Given the description of an element on the screen output the (x, y) to click on. 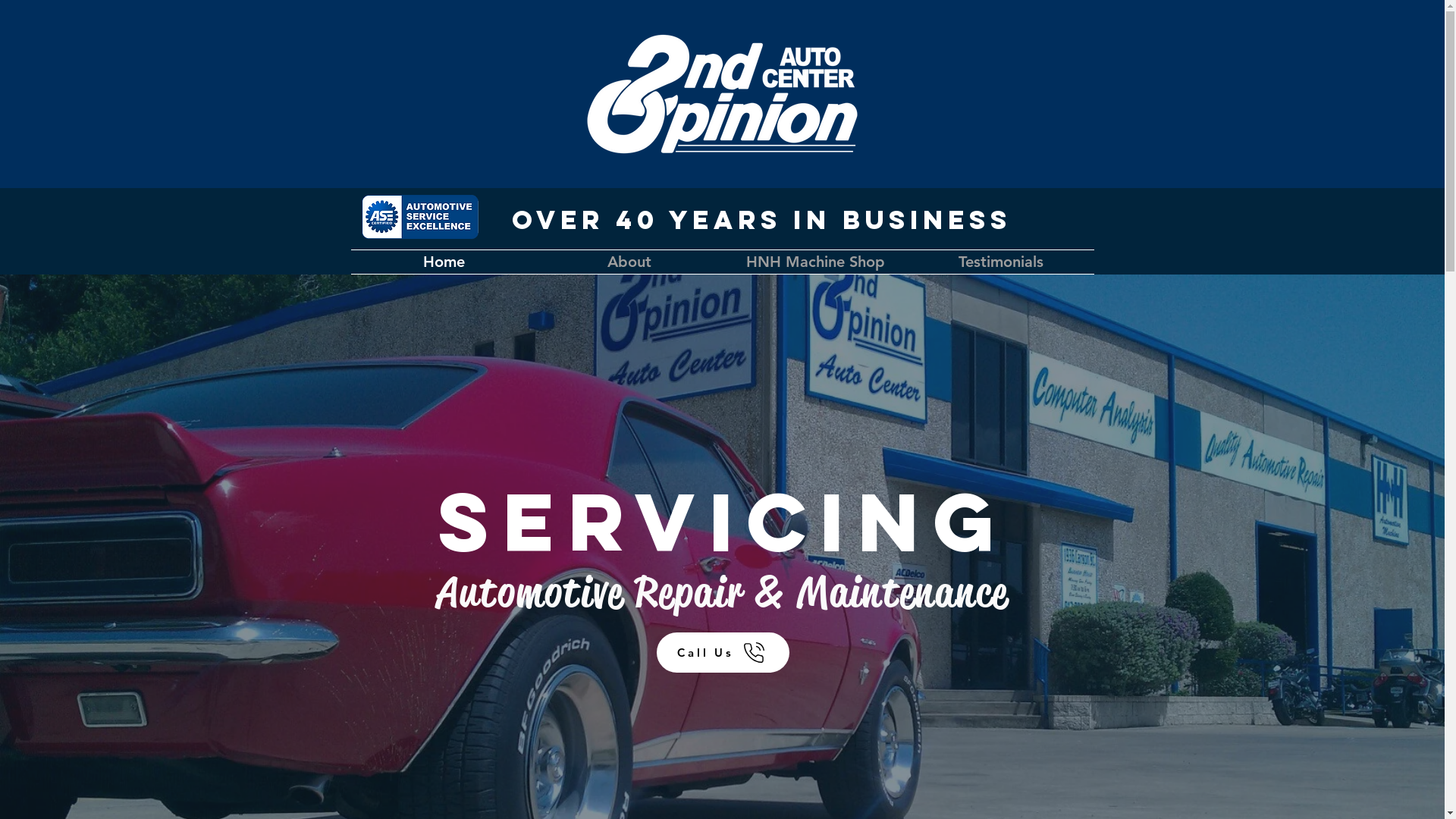
About Element type: text (629, 261)
Home Element type: text (443, 261)
Call Us Element type: text (722, 652)
HNH Machine Shop Element type: text (814, 261)
Testimonials Element type: text (1001, 261)
